Given the description of an element on the screen output the (x, y) to click on. 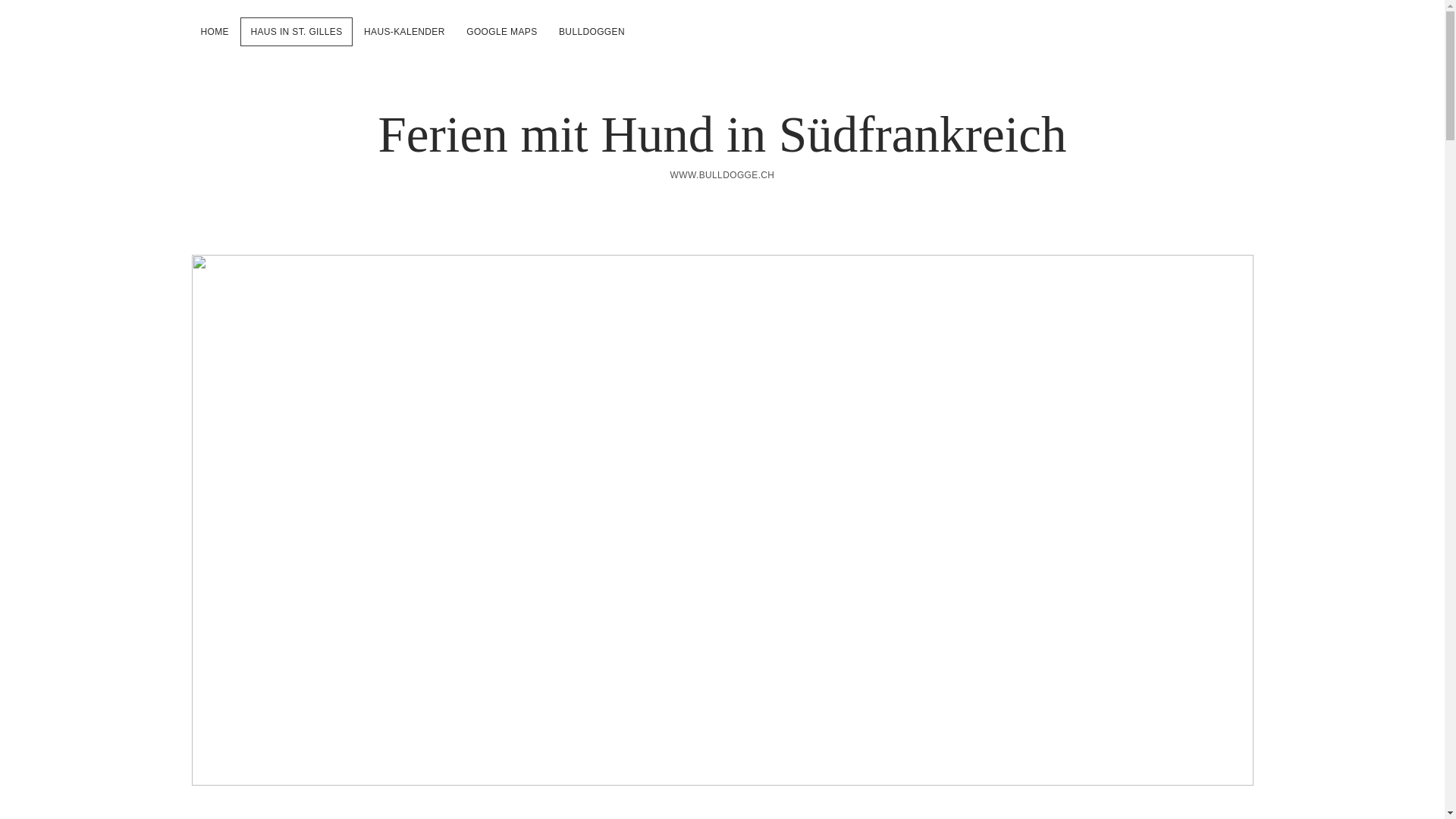
BULLDOGGEN Element type: text (591, 31)
HOME Element type: text (214, 31)
GOOGLE MAPS Element type: text (501, 31)
HAUS-KALENDER Element type: text (404, 31)
HAUS IN ST. GILLES Element type: text (296, 31)
